Given the description of an element on the screen output the (x, y) to click on. 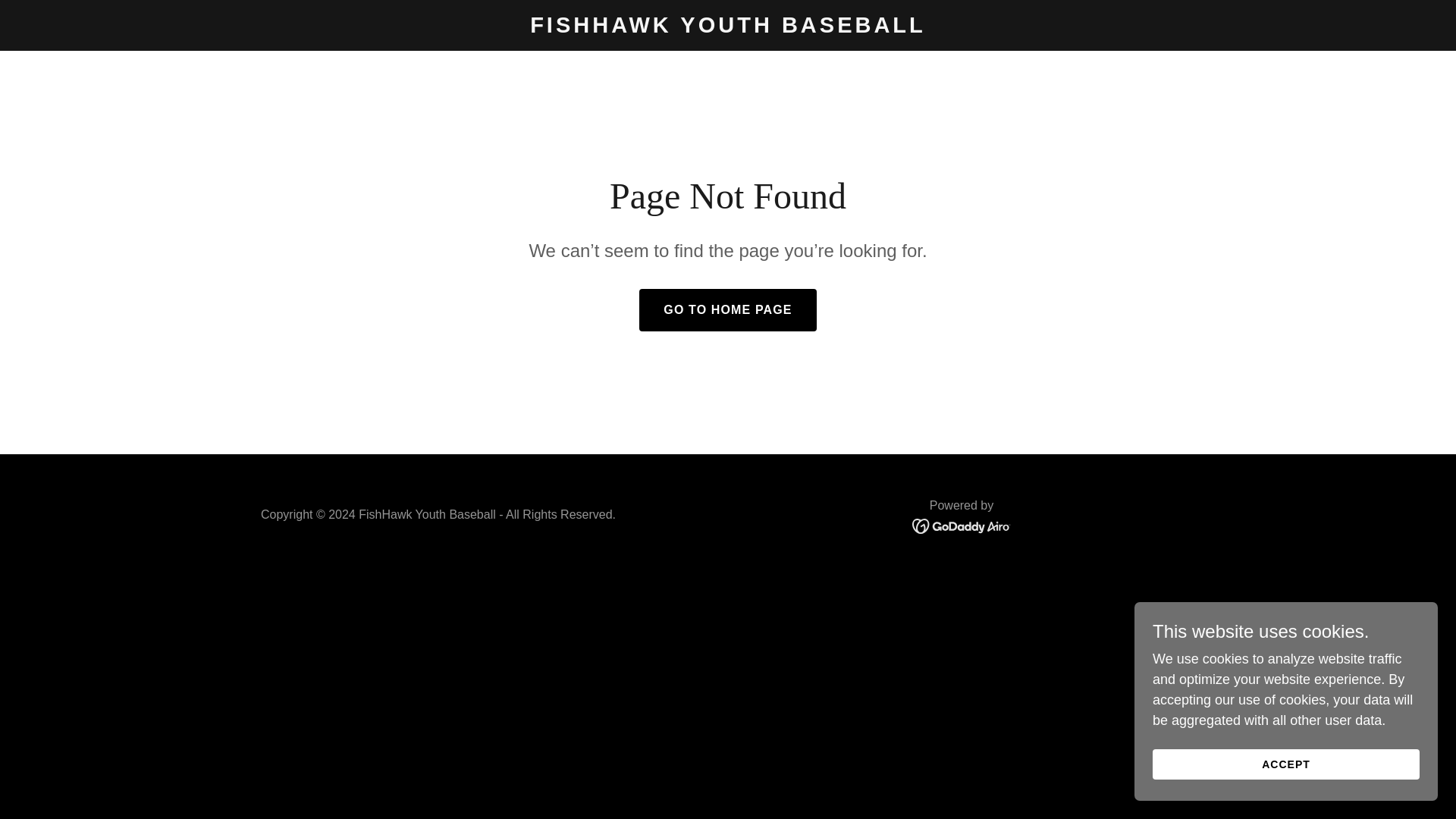
FISHHAWK YOUTH BASEBALL (727, 28)
GO TO HOME PAGE (727, 310)
FishHawk Youth Baseball (727, 28)
ACCEPT (1286, 764)
